Given the description of an element on the screen output the (x, y) to click on. 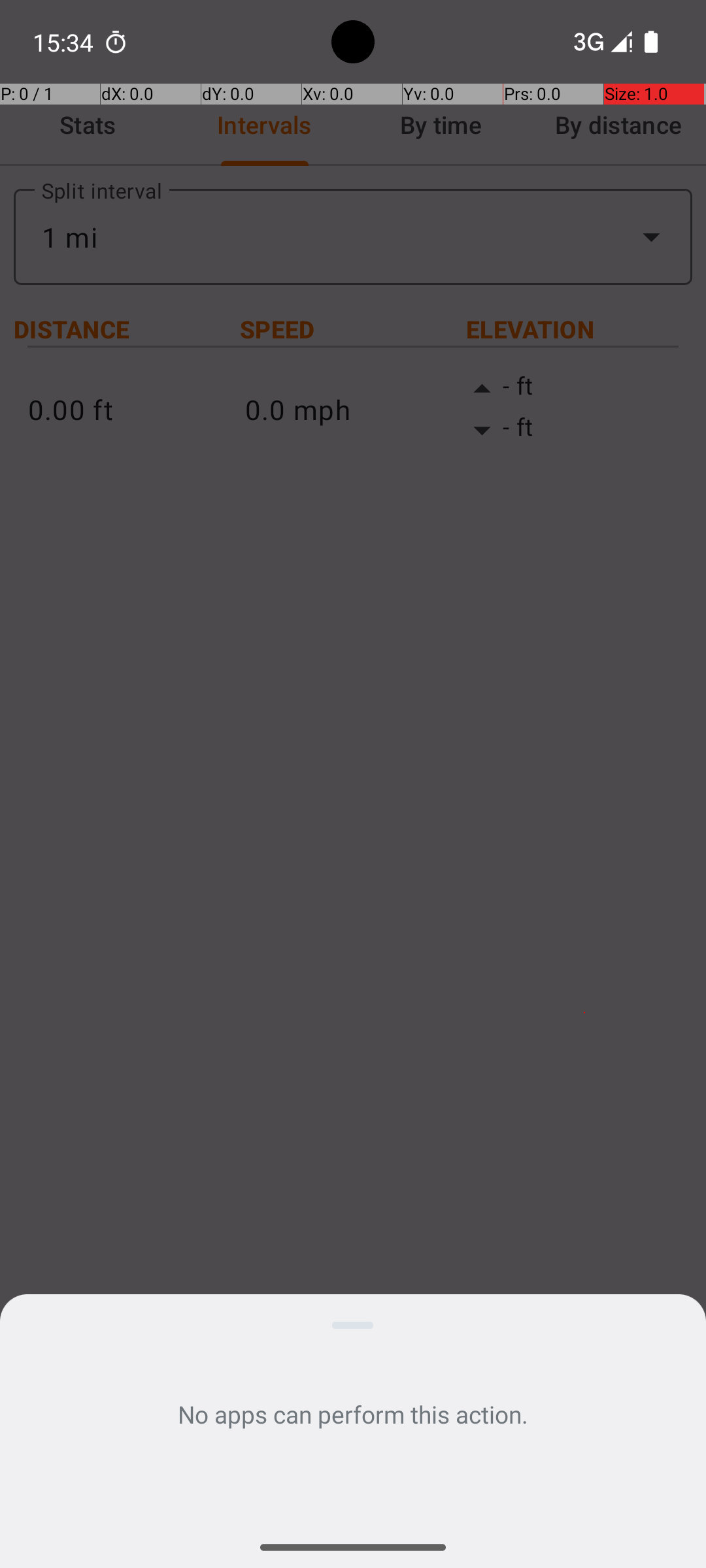
No apps can perform this action. Element type: android.widget.TextView (352, 1413)
